Given the description of an element on the screen output the (x, y) to click on. 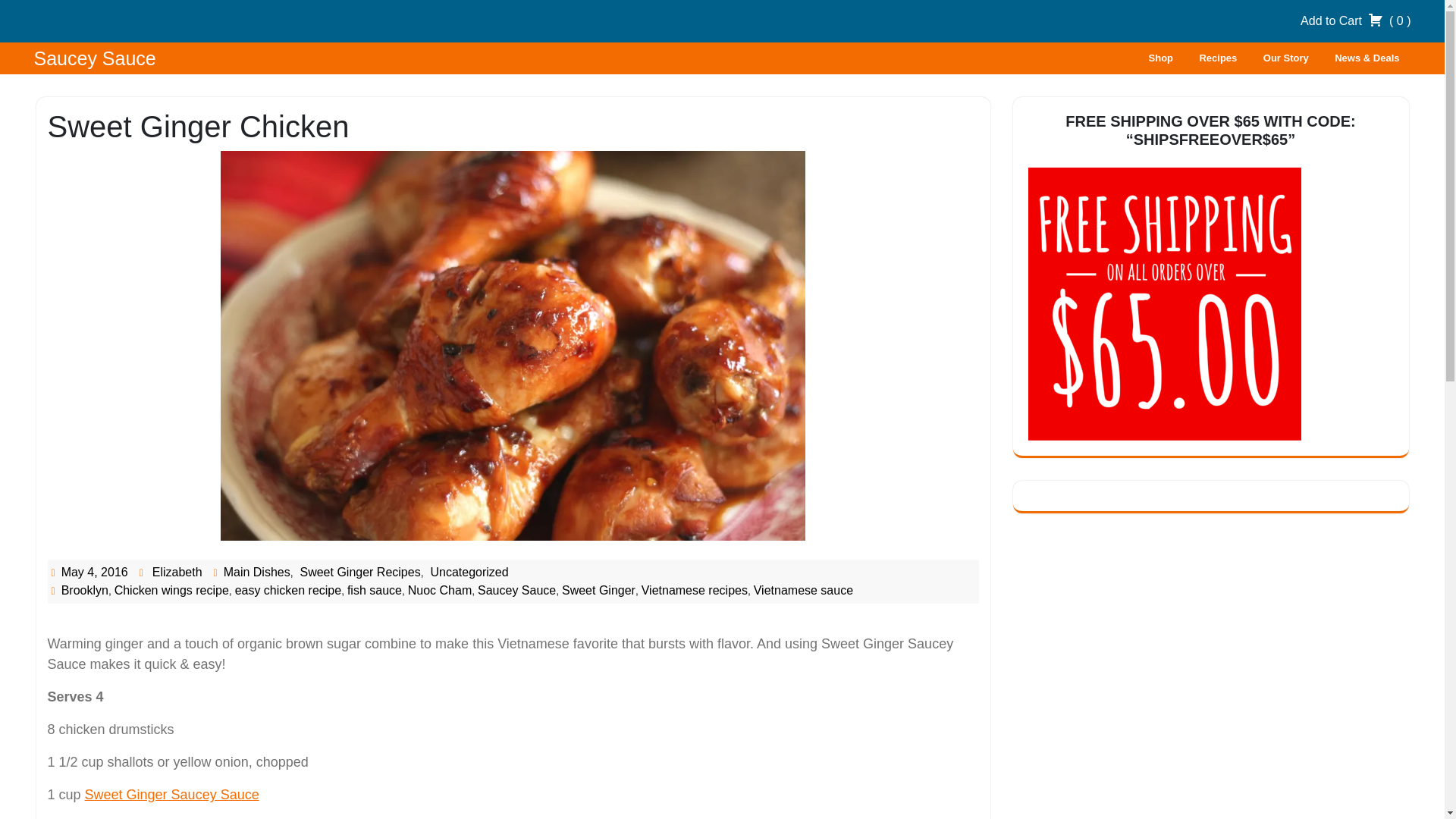
Recipes (1217, 58)
Sweet Ginger Recipes (359, 571)
View Shopping Cart (1355, 20)
Vietnamese recipes (695, 590)
Nuoc Cham (439, 590)
May 4, 2016 (94, 571)
easy chicken recipe (288, 590)
Sweet Ginger Saucey Sauce (171, 794)
Vietnamese sauce (803, 590)
Uncategorized (468, 571)
Shop (1161, 58)
Sweet Ginger (598, 590)
Brooklyn (84, 590)
fish sauce (374, 590)
Saucey Sauce (94, 57)
